Given the description of an element on the screen output the (x, y) to click on. 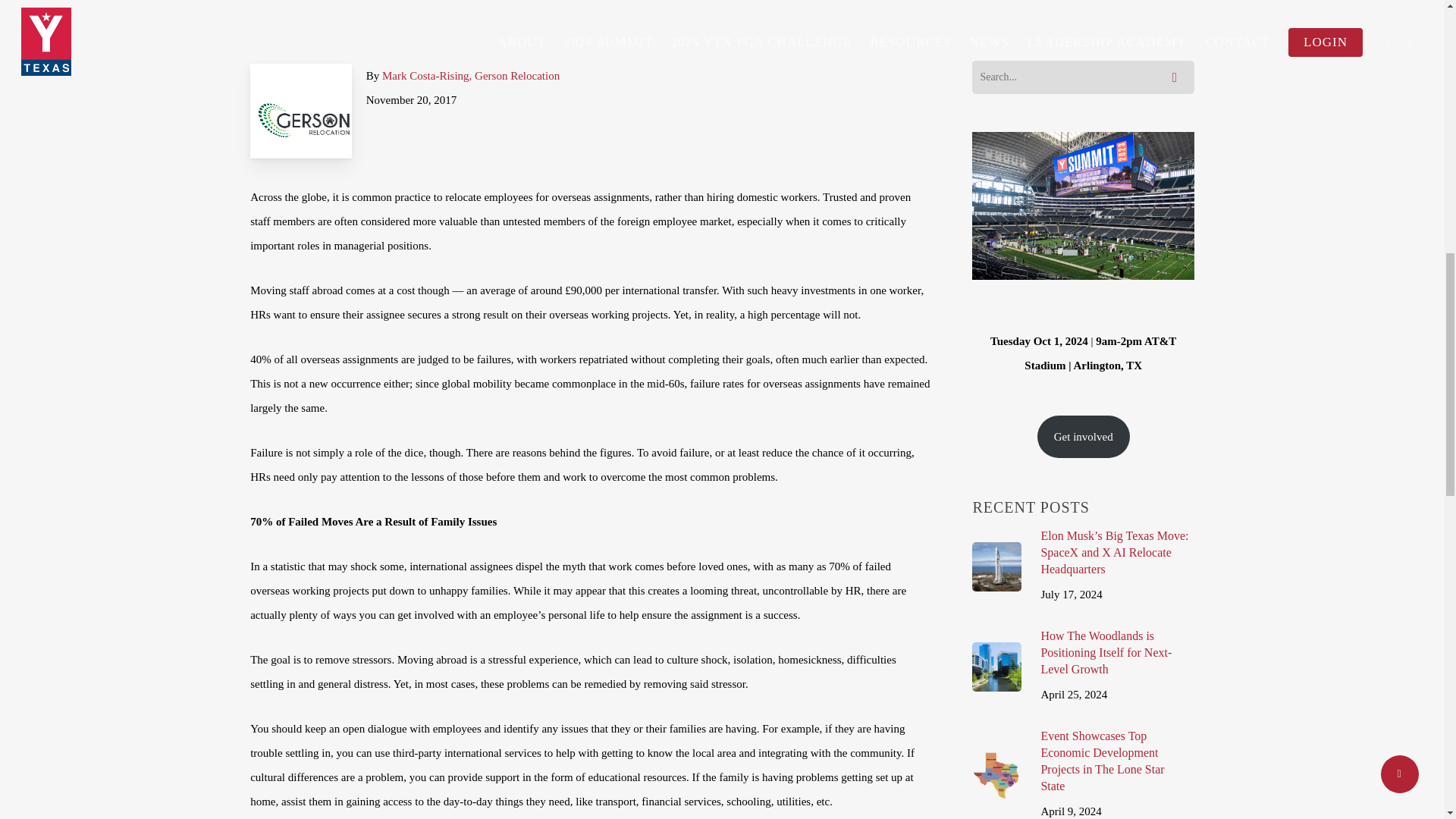
Search for: (1082, 77)
Mark Costa-Rising, Gerson Relocation (470, 75)
Get involved (1082, 436)
